Given the description of an element on the screen output the (x, y) to click on. 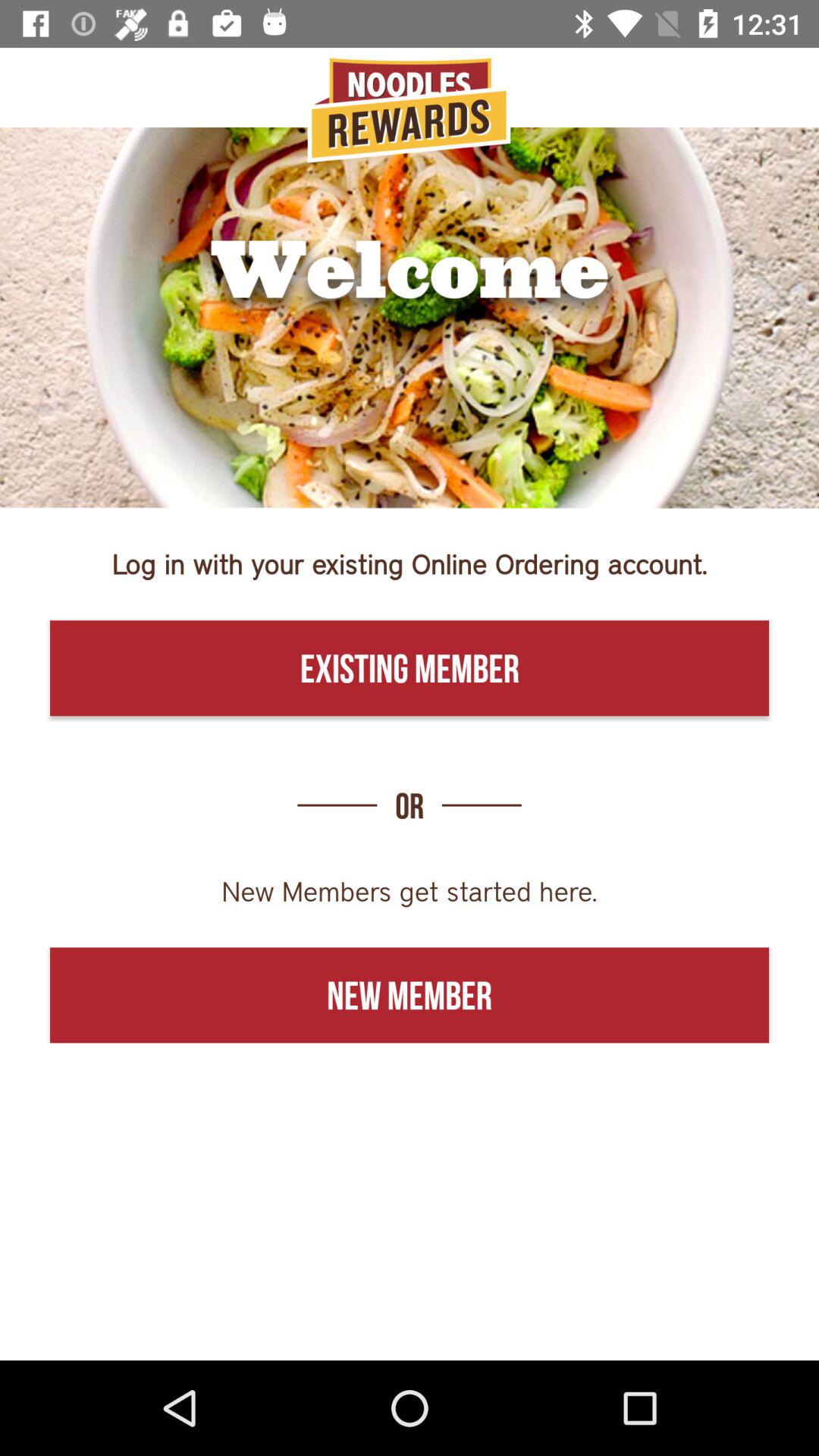
click the new member item (409, 995)
